Given the description of an element on the screen output the (x, y) to click on. 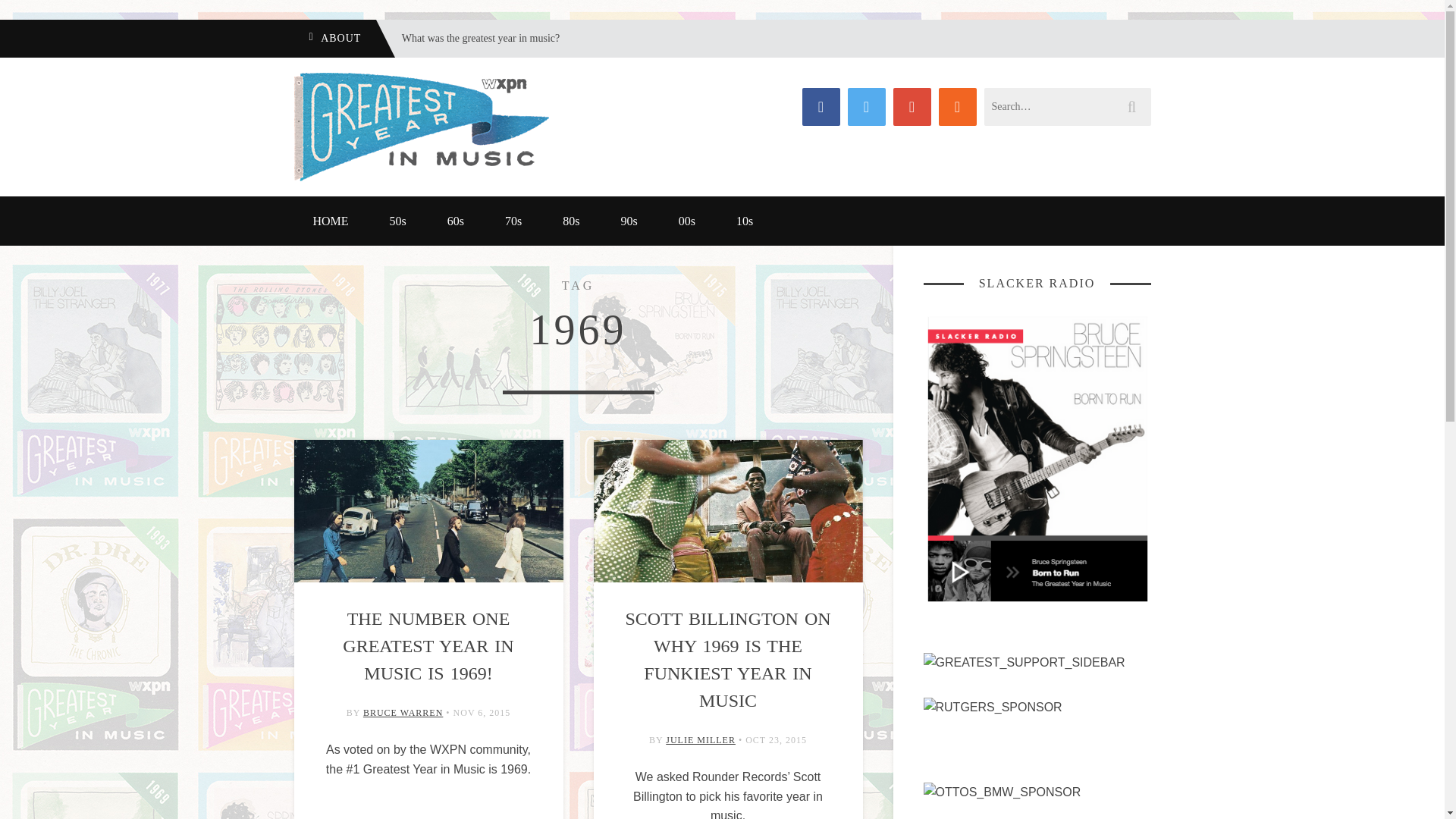
JULIE MILLER (700, 739)
HOME (331, 220)
60s (455, 220)
BRUCE WARREN (402, 712)
90s (629, 220)
70s (513, 220)
80s (570, 220)
10s (744, 220)
THE NUMBER ONE GREATEST YEAR IN MUSIC IS 1969! (428, 646)
What was the greatest year in music? (468, 38)
